Given the description of an element on the screen output the (x, y) to click on. 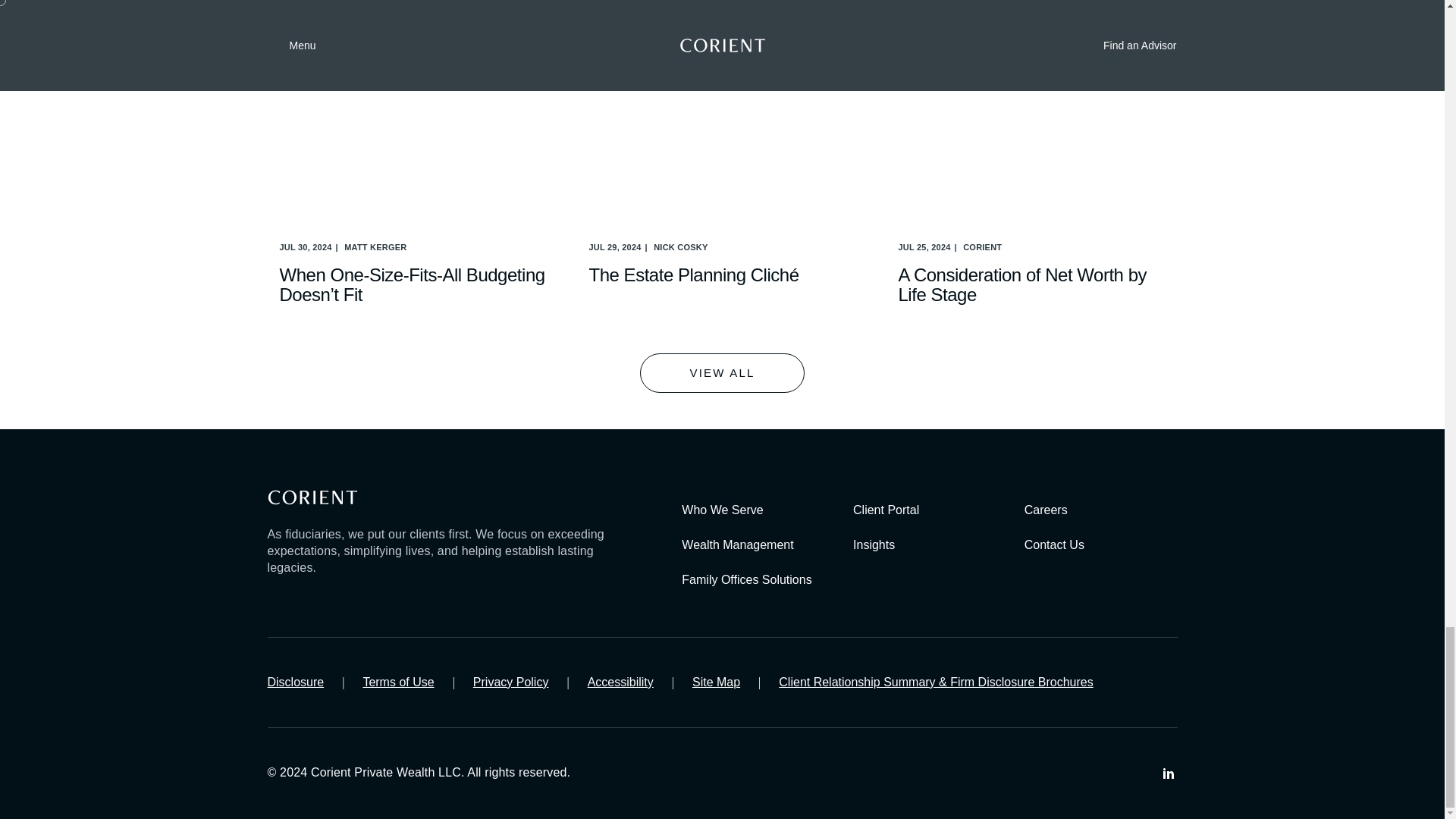
Contact Us (1054, 545)
Wealth Management (737, 545)
LinkedIn (1167, 773)
Client Portal (885, 510)
Site Map (716, 681)
Terms of Use (397, 681)
Disclosure (294, 681)
Careers (1046, 510)
VIEW ALL (721, 372)
Family Offices Solutions (745, 579)
Insights (874, 545)
Who We Serve (721, 510)
Privacy Policy (510, 681)
Accessibility (620, 681)
